Given the description of an element on the screen output the (x, y) to click on. 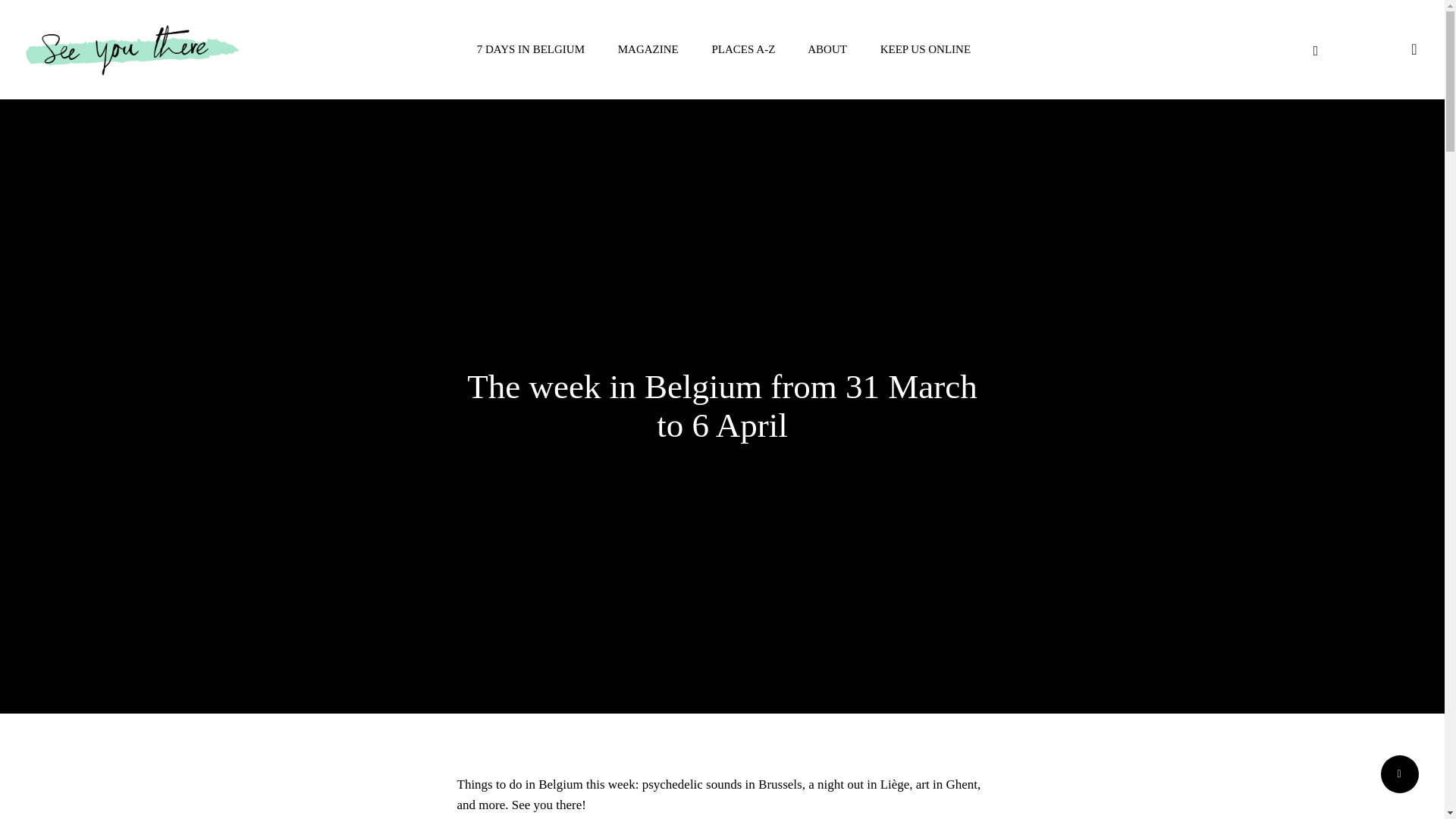
ABOUT (826, 49)
email (1370, 49)
MAGAZINE (646, 49)
PLACES A-Z (742, 49)
KEEP US ONLINE (924, 49)
7 DAYS IN BELGIUM (529, 49)
facebook (1315, 49)
search (1414, 49)
instagram (1342, 49)
